Given the description of an element on the screen output the (x, y) to click on. 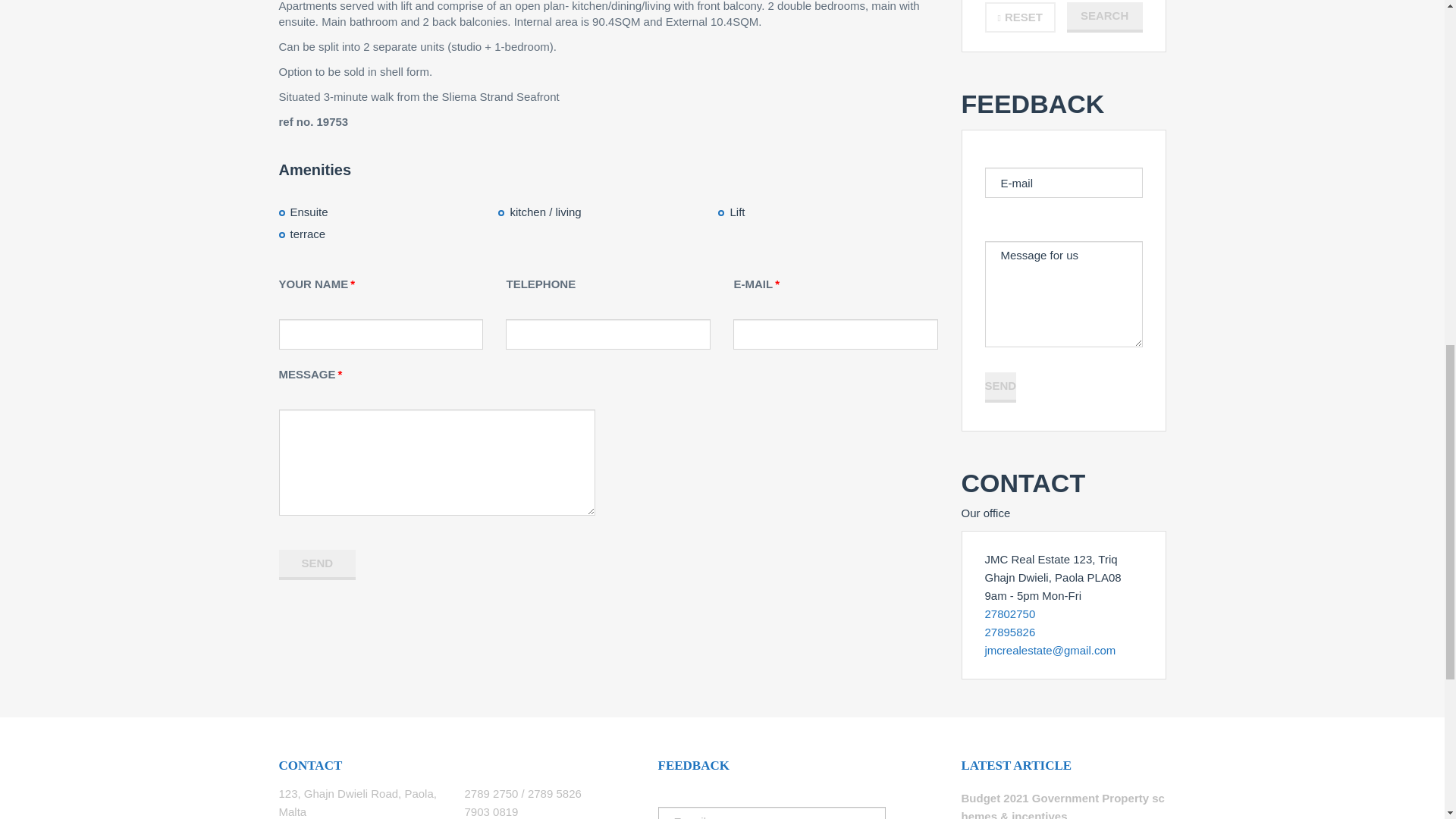
Send (317, 564)
Send (1000, 387)
Send (317, 564)
